Given the description of an element on the screen output the (x, y) to click on. 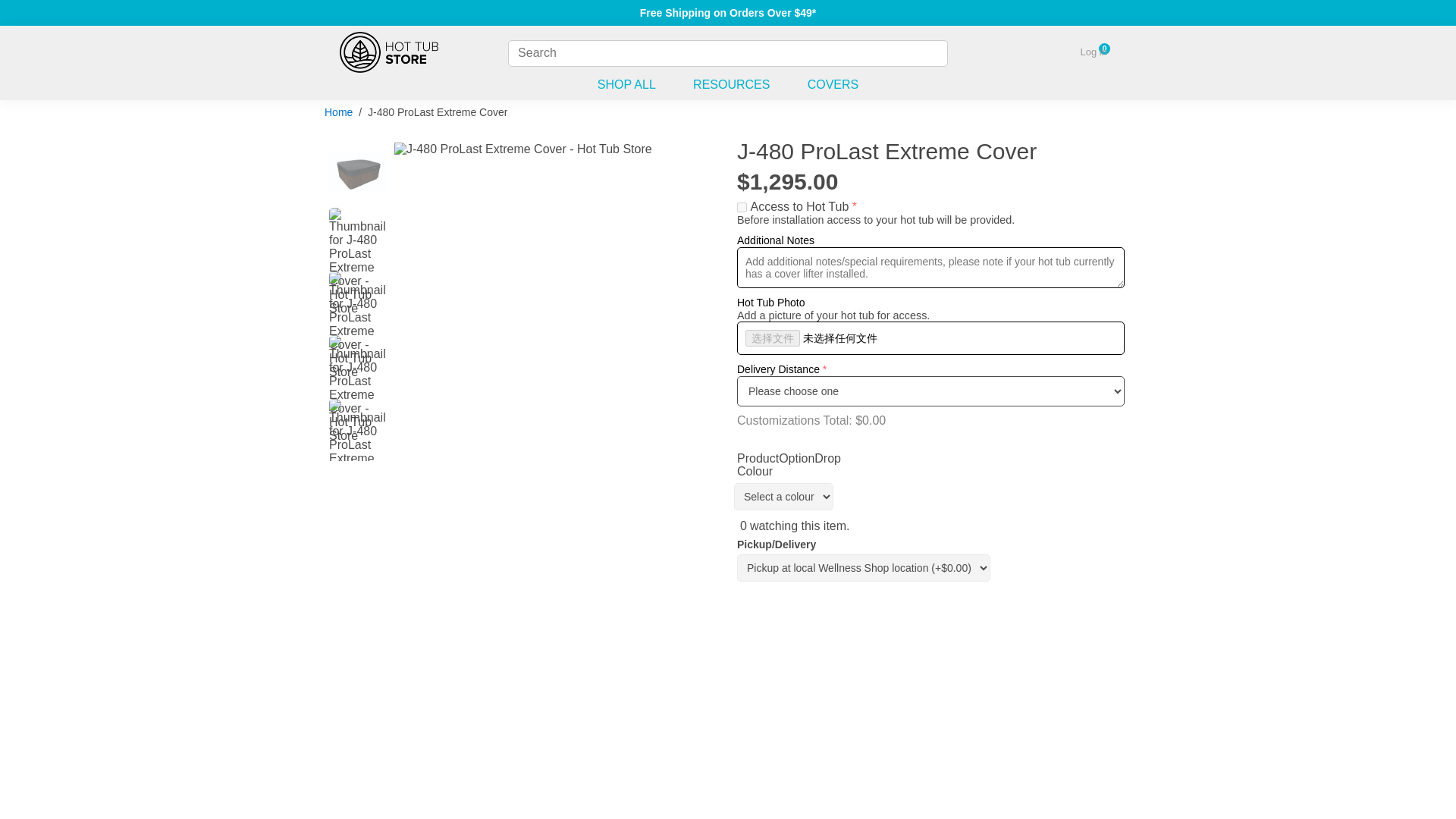
SHOP ALL (626, 87)
Log in (1093, 51)
Home (338, 111)
